Given the description of an element on the screen output the (x, y) to click on. 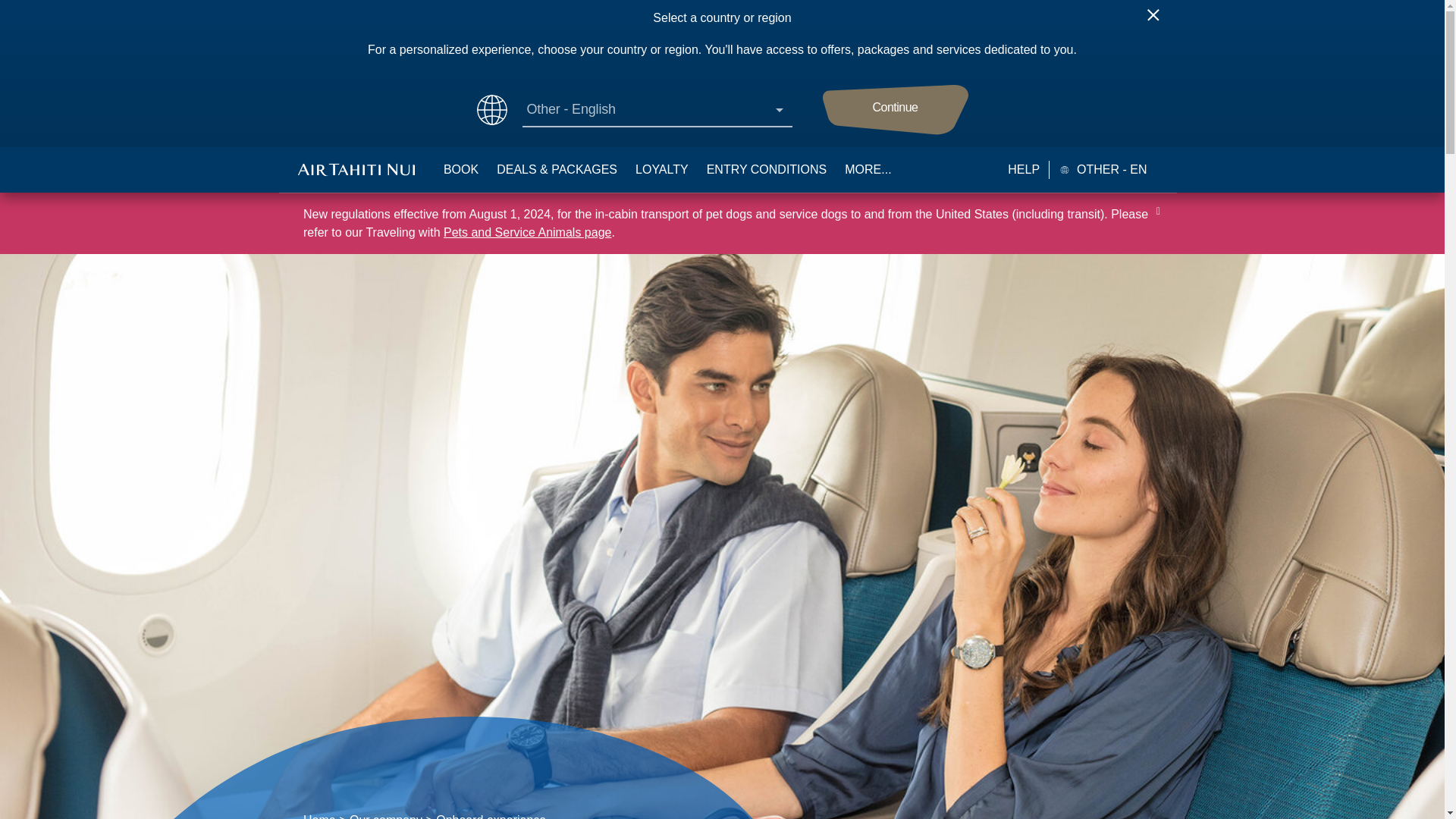
ENTRY CONDITIONS (766, 169)
BOOK (461, 169)
LOYALTY (661, 169)
Continue (895, 110)
Close (1158, 21)
Continue (895, 110)
Close (1158, 21)
MORE... (867, 169)
Sign in (406, 562)
